Given the description of an element on the screen output the (x, y) to click on. 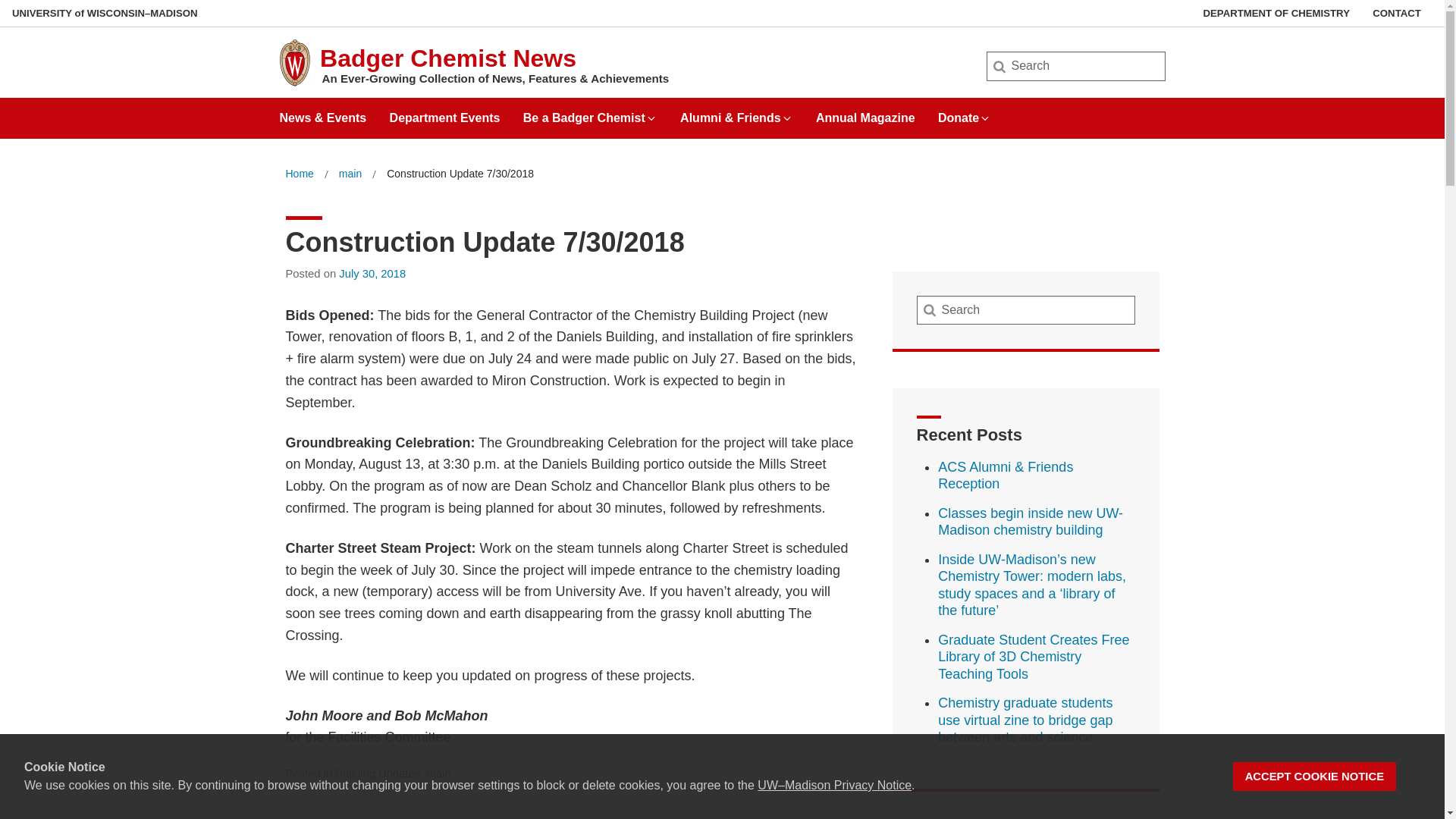
July 30, 2018 (372, 273)
ACCEPT COOKIE NOTICE (1314, 776)
Donate Expand (964, 112)
Building Updates (377, 773)
Be a Badger Chemist Expand (590, 112)
Home (299, 173)
Expand (651, 118)
Skip to main content (3, 3)
Search (37, 16)
